Given the description of an element on the screen output the (x, y) to click on. 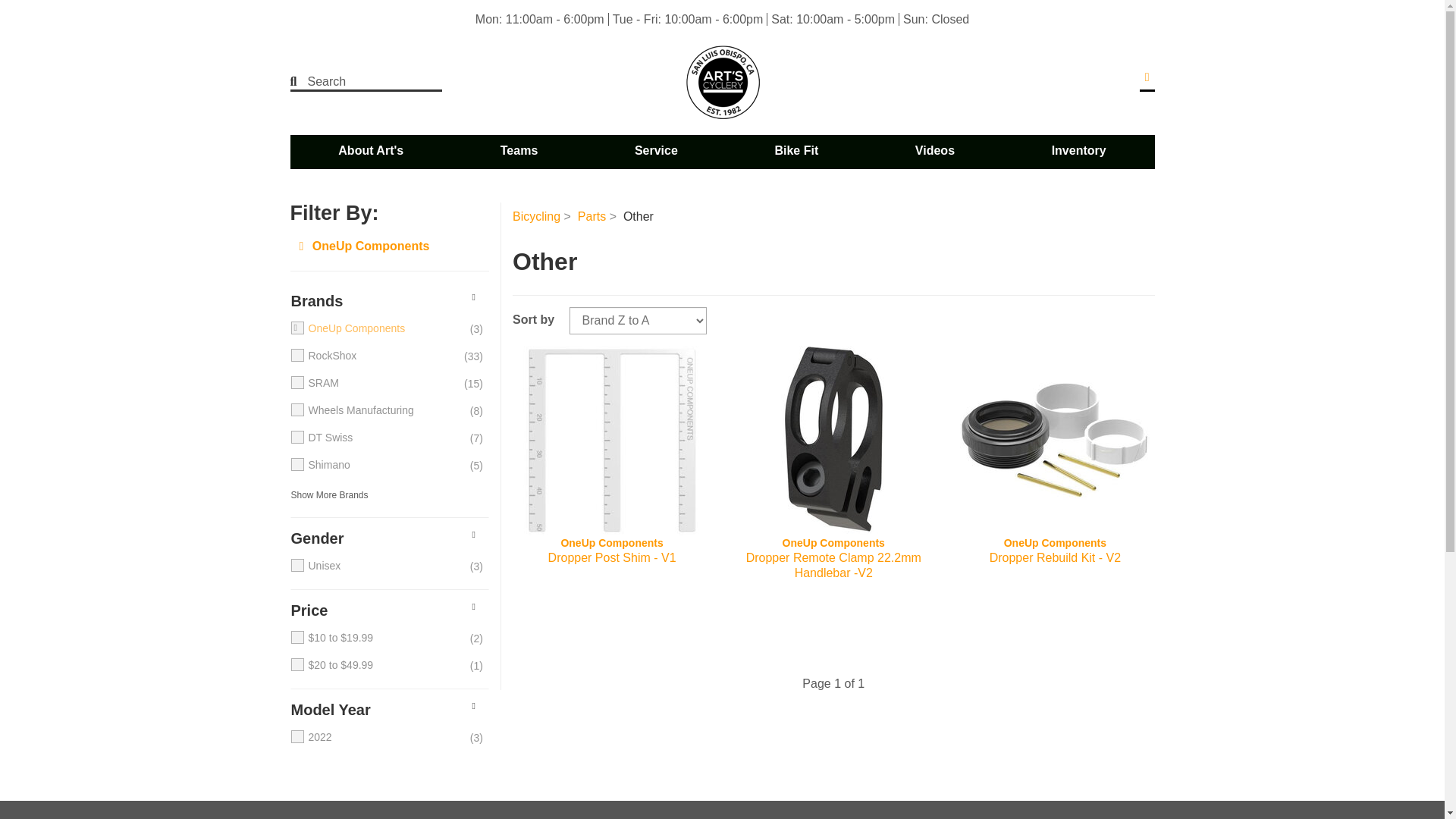
Search (356, 81)
Inventory (1078, 151)
Teams (518, 151)
About Art's (371, 151)
OneUp Components Dropper Post Shim - V1 (611, 557)
Service (656, 151)
OneUp Components Dropper Remote Clamp 22.2mm Handlebar -V2 (833, 440)
OneUp Components Dropper Post Shim - V1 (611, 440)
Bike Fit (795, 151)
Videos (934, 151)
OneUp Components Dropper Rebuild Kit - V2 (1054, 440)
OneUp Components Dropper Remote Clamp 22.2mm Handlebar -V2 (833, 557)
OneUp Components Dropper Rebuild Kit - V2 (1054, 557)
Arts SLO Cyclery Home Page (721, 81)
